Given the description of an element on the screen output the (x, y) to click on. 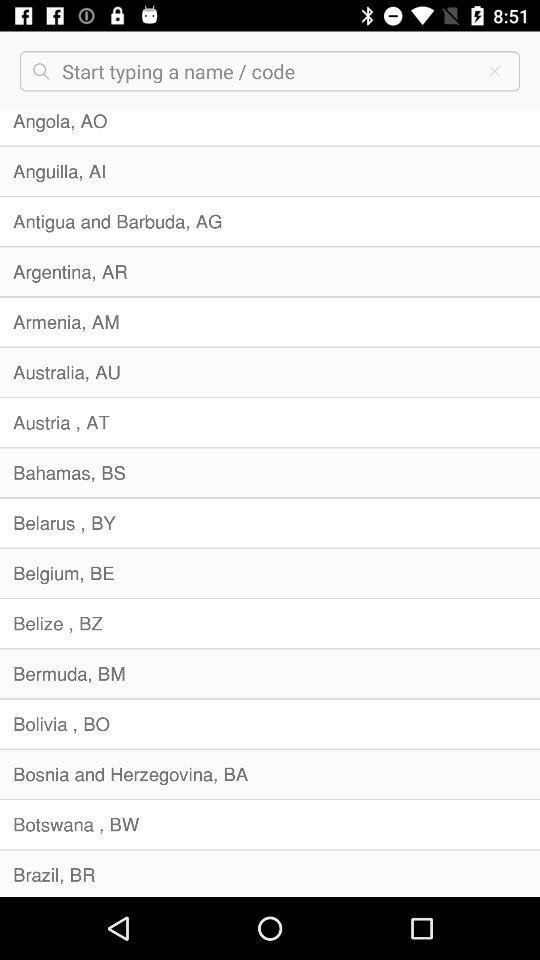
press icon below the australia, au icon (270, 422)
